Given the description of an element on the screen output the (x, y) to click on. 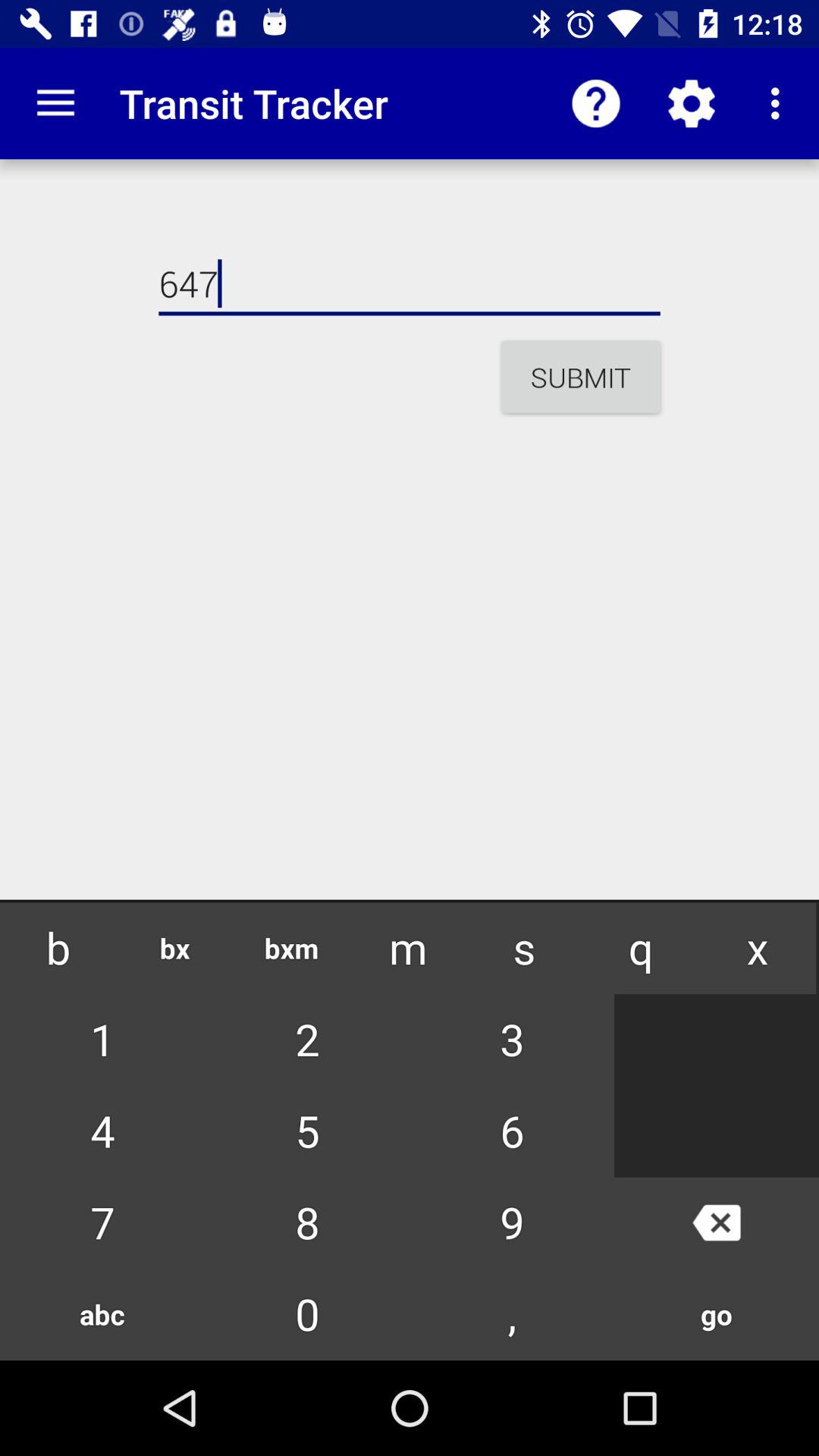
toggle between numbers and letters (409, 1295)
